Given the description of an element on the screen output the (x, y) to click on. 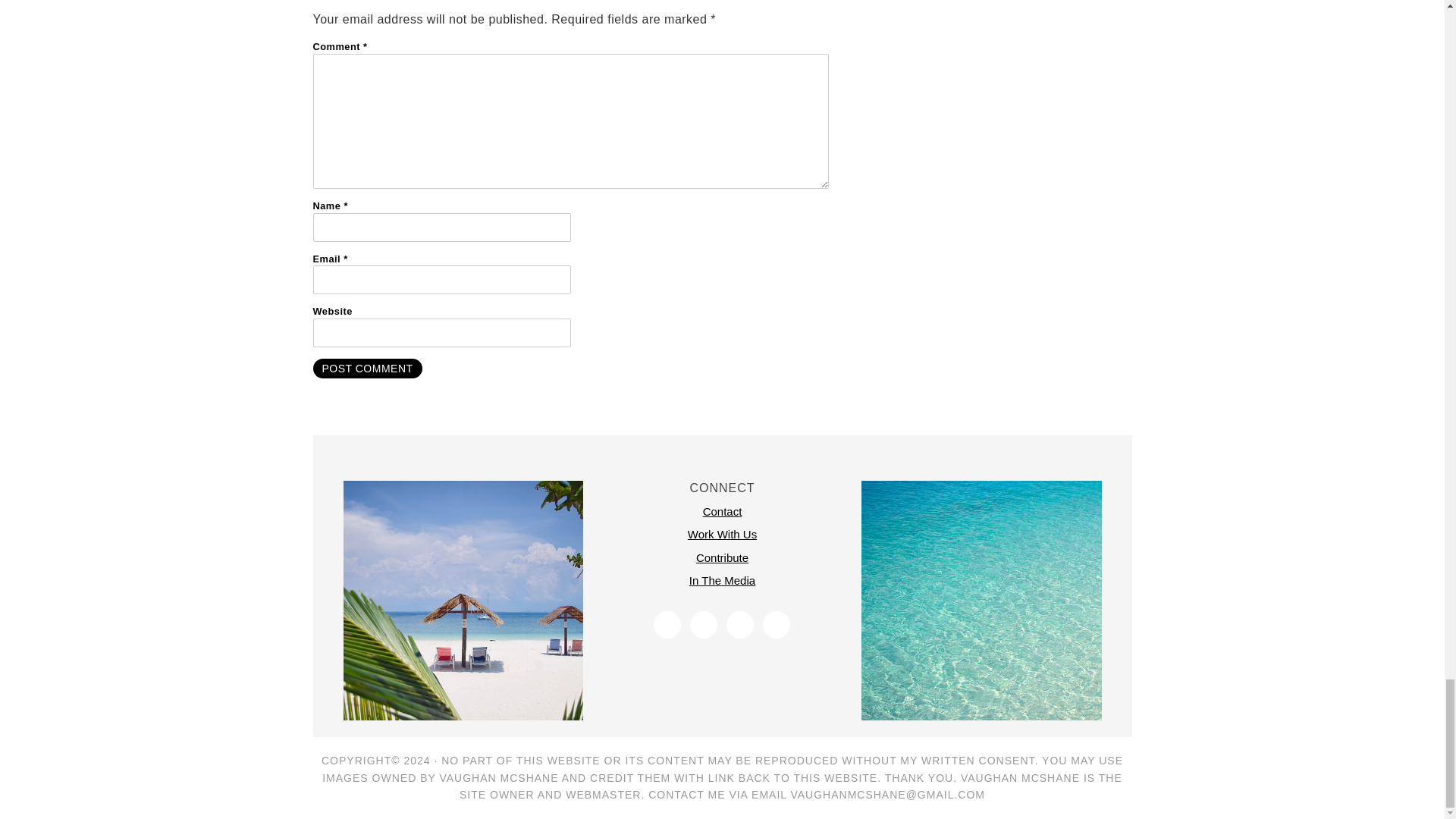
Post Comment (367, 368)
